Given the description of an element on the screen output the (x, y) to click on. 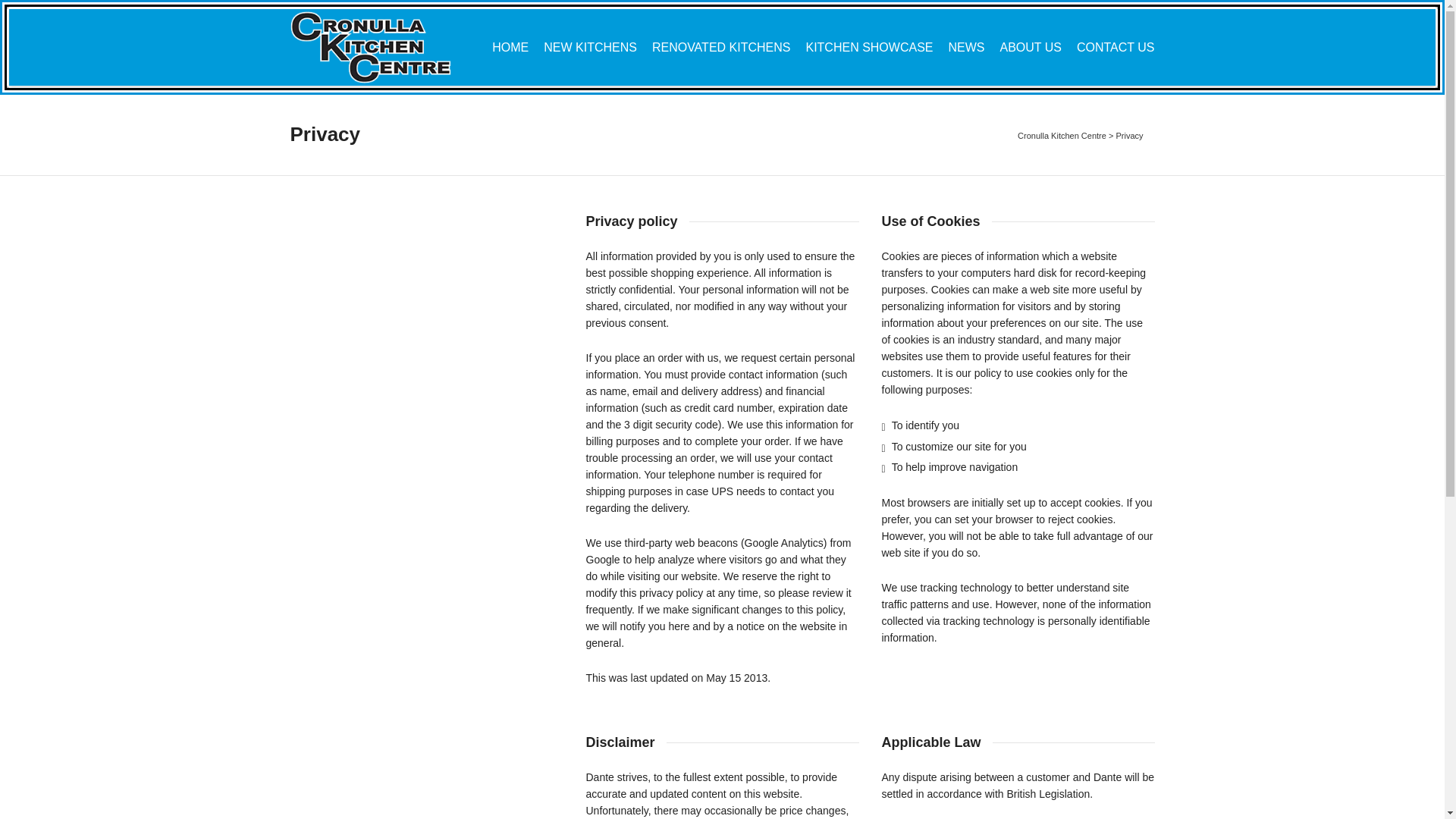
NEWS Element type: text (965, 48)
RENOVATED KITCHENS Element type: text (721, 48)
CONTACT US Element type: text (1115, 48)
KITCHEN SHOWCASE Element type: text (868, 48)
Cronulla Kitchen Centre Element type: text (1061, 135)
ABOUT US Element type: text (1030, 48)
NEW KITCHENS Element type: text (590, 48)
HOME Element type: text (510, 48)
